Given the description of an element on the screen output the (x, y) to click on. 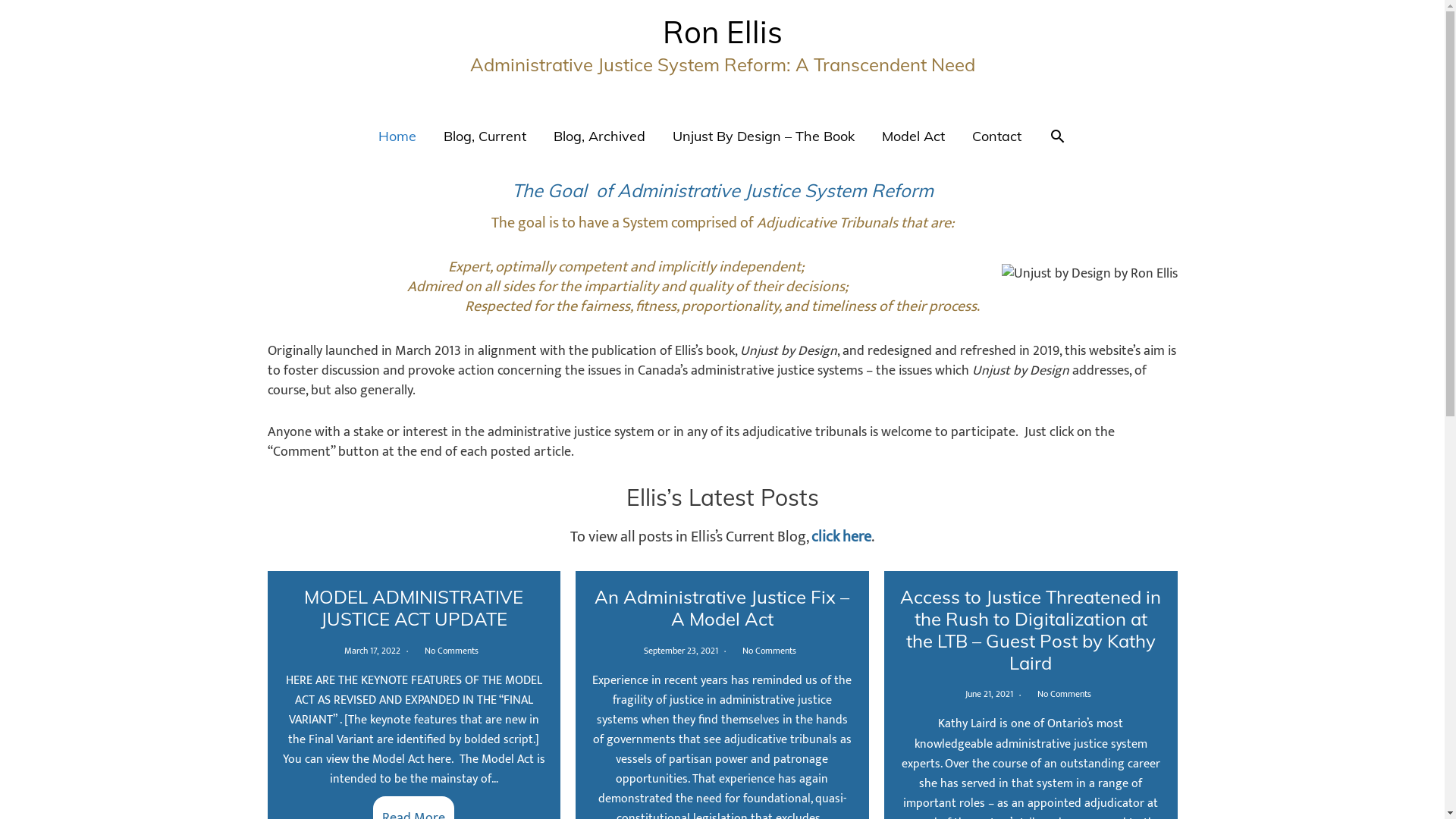
Model Act Element type: text (913, 136)
Blog, Current Element type: text (484, 136)
Contact Element type: text (996, 136)
Ron Ellis Element type: text (722, 31)
Blog, Archived Element type: text (598, 136)
Search Element type: text (1057, 135)
click here Element type: text (841, 536)
MODEL ADMINISTRATIVE JUSTICE ACT UPDATE Element type: text (413, 607)
Home Element type: text (396, 136)
